Given the description of an element on the screen output the (x, y) to click on. 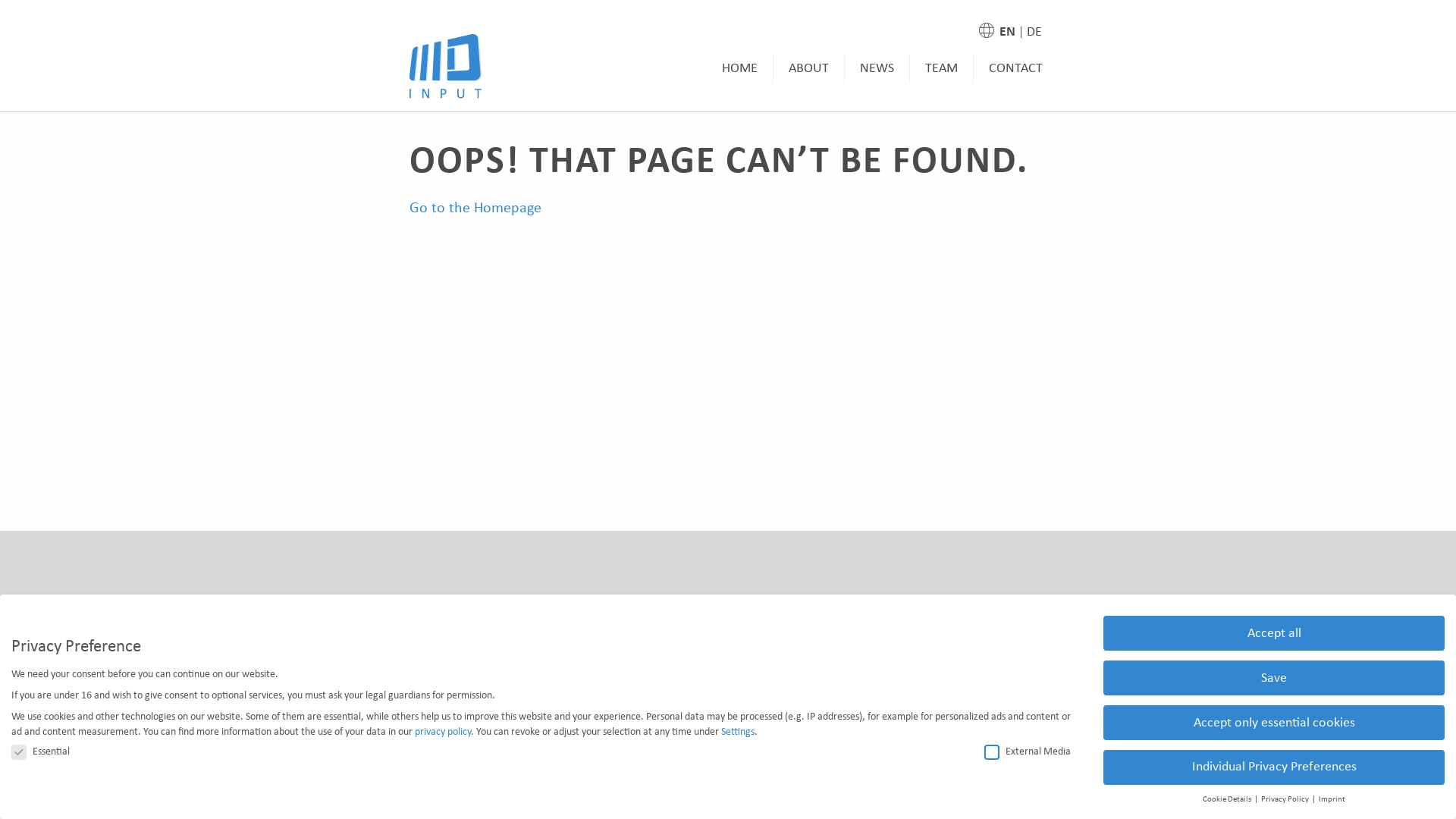
Settings Element type: text (737, 731)
ABOUT Element type: text (808, 68)
EN Element type: text (1007, 31)
privacy policy Element type: text (442, 731)
TEAM Element type: text (941, 68)
Cookie Details Element type: text (1227, 799)
PRIVACY POLICY Element type: text (915, 618)
Individual Privacy Preferences Element type: text (1273, 766)
LEGAL INFORMATION Element type: text (557, 618)
CONTACT Element type: text (1015, 68)
3D Input Element type: hover (445, 66)
HOME Element type: text (739, 68)
Go to the Homepage Element type: text (475, 208)
Accept only essential cookies Element type: text (1273, 722)
Save Element type: text (1273, 677)
Privacy Policy Element type: text (1285, 799)
NEWS Element type: text (877, 68)
Imprint Element type: text (1331, 799)
DE Element type: text (1034, 31)
Accept all Element type: text (1273, 632)
TERMS OF SERVICE Element type: text (746, 618)
